Given the description of an element on the screen output the (x, y) to click on. 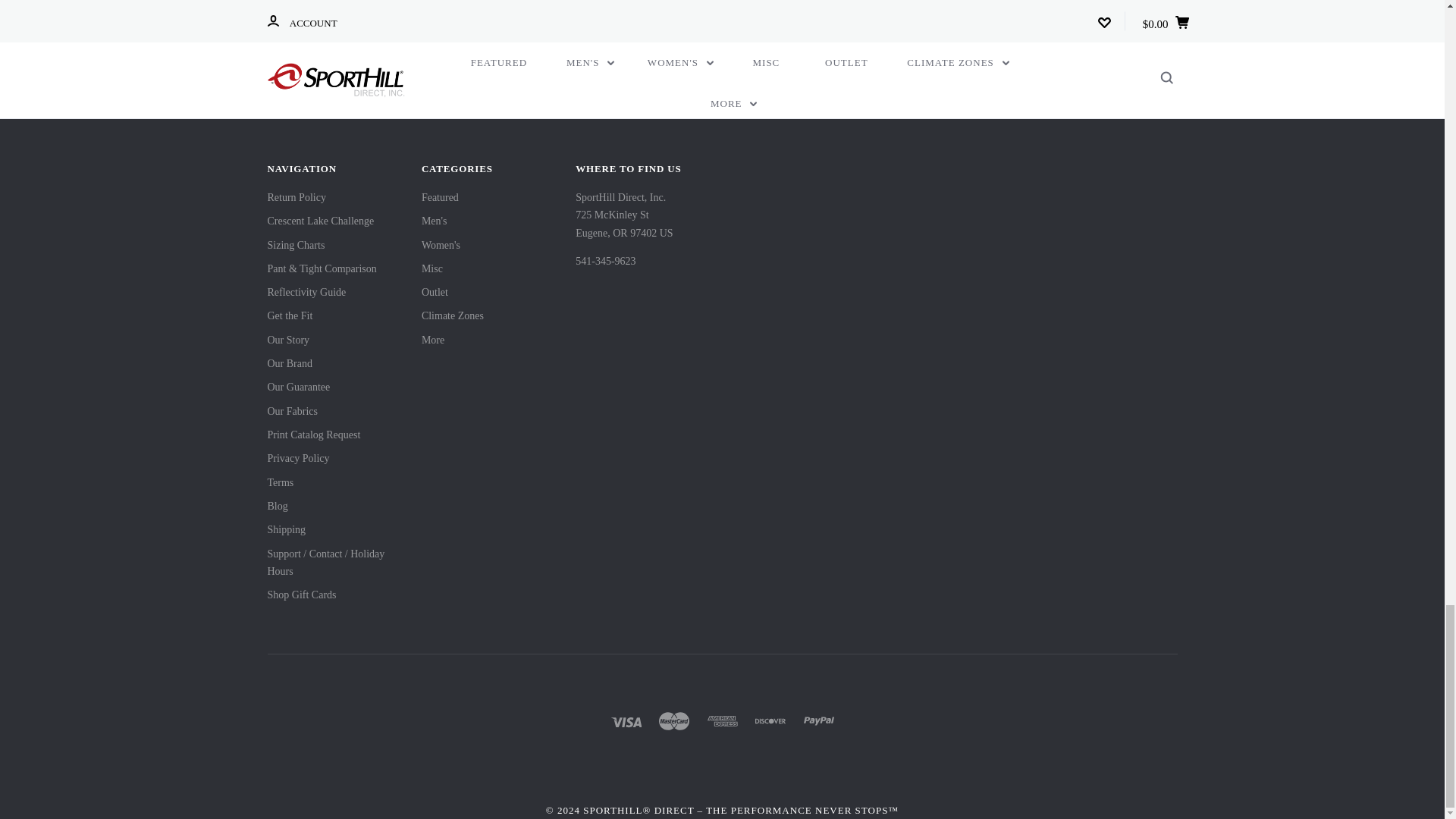
Subscribe (883, 1)
